Given the description of an element on the screen output the (x, y) to click on. 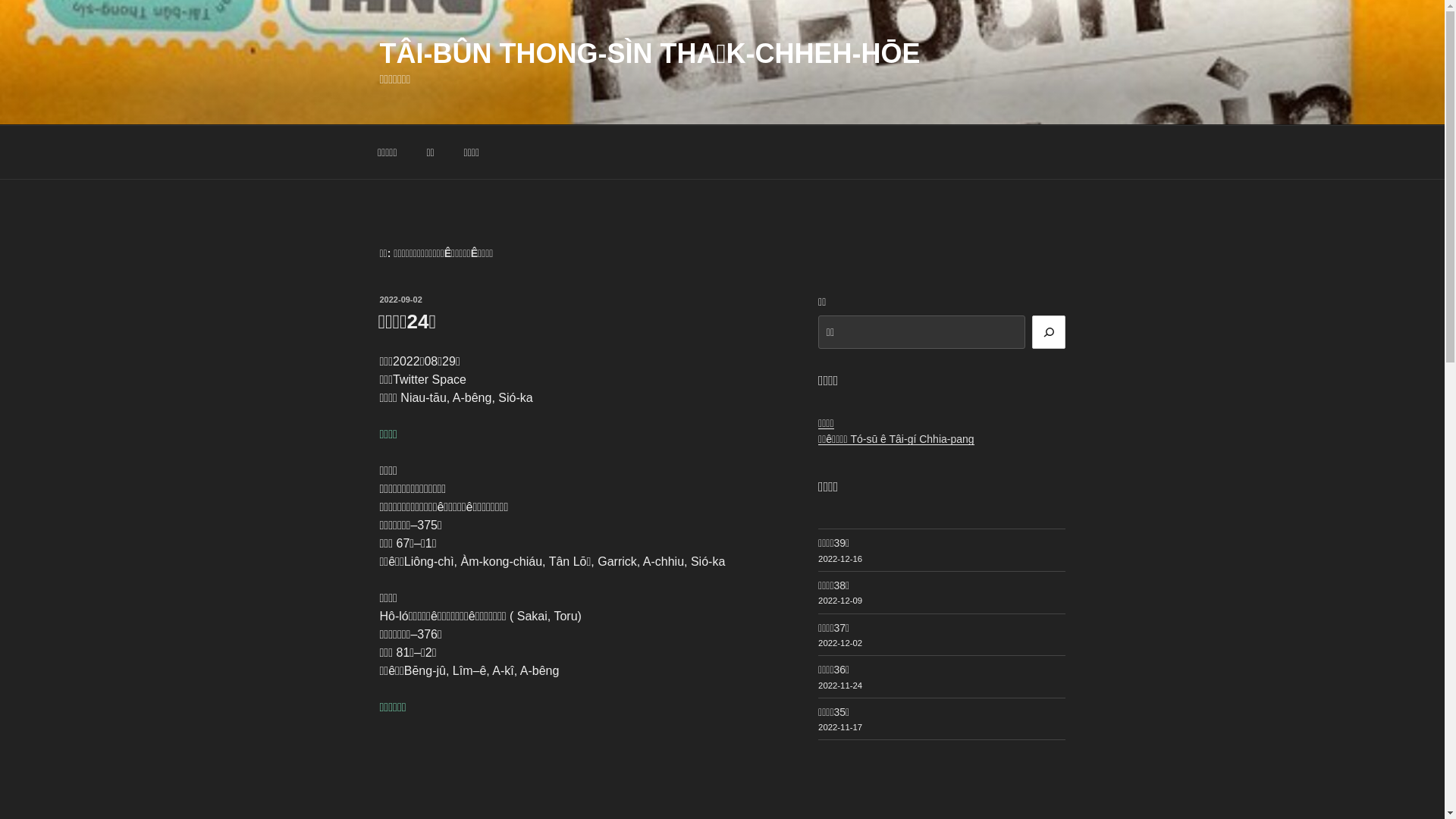
2022-09-02 Element type: text (400, 299)
